Given the description of an element on the screen output the (x, y) to click on. 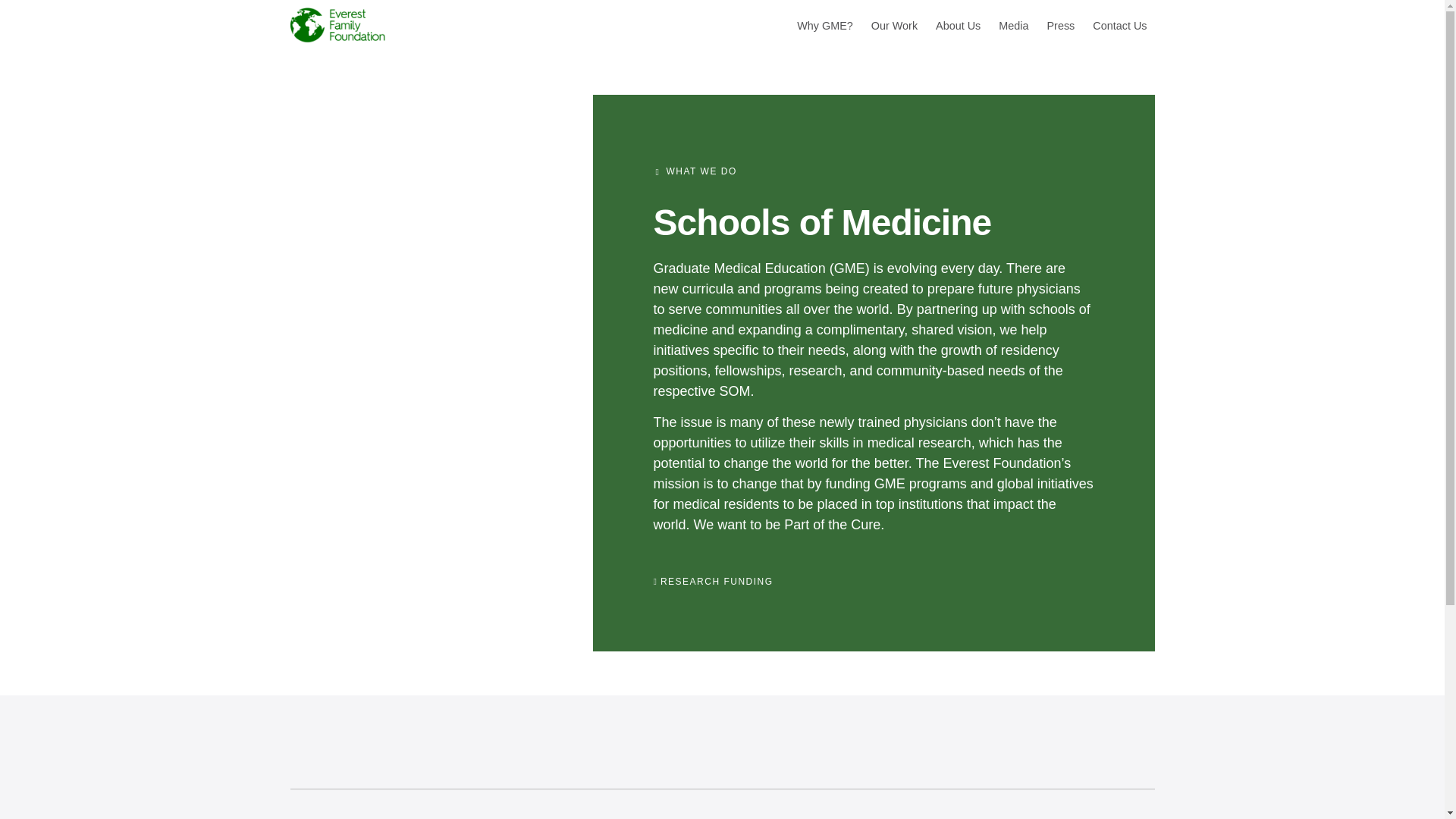
RESEARCH FUNDING (717, 581)
Our Work (893, 25)
WHAT WE DO (700, 171)
About Us (957, 25)
Press (1060, 25)
Media (1012, 25)
Contact Us (1120, 25)
Why GME? (824, 25)
